Given the description of an element on the screen output the (x, y) to click on. 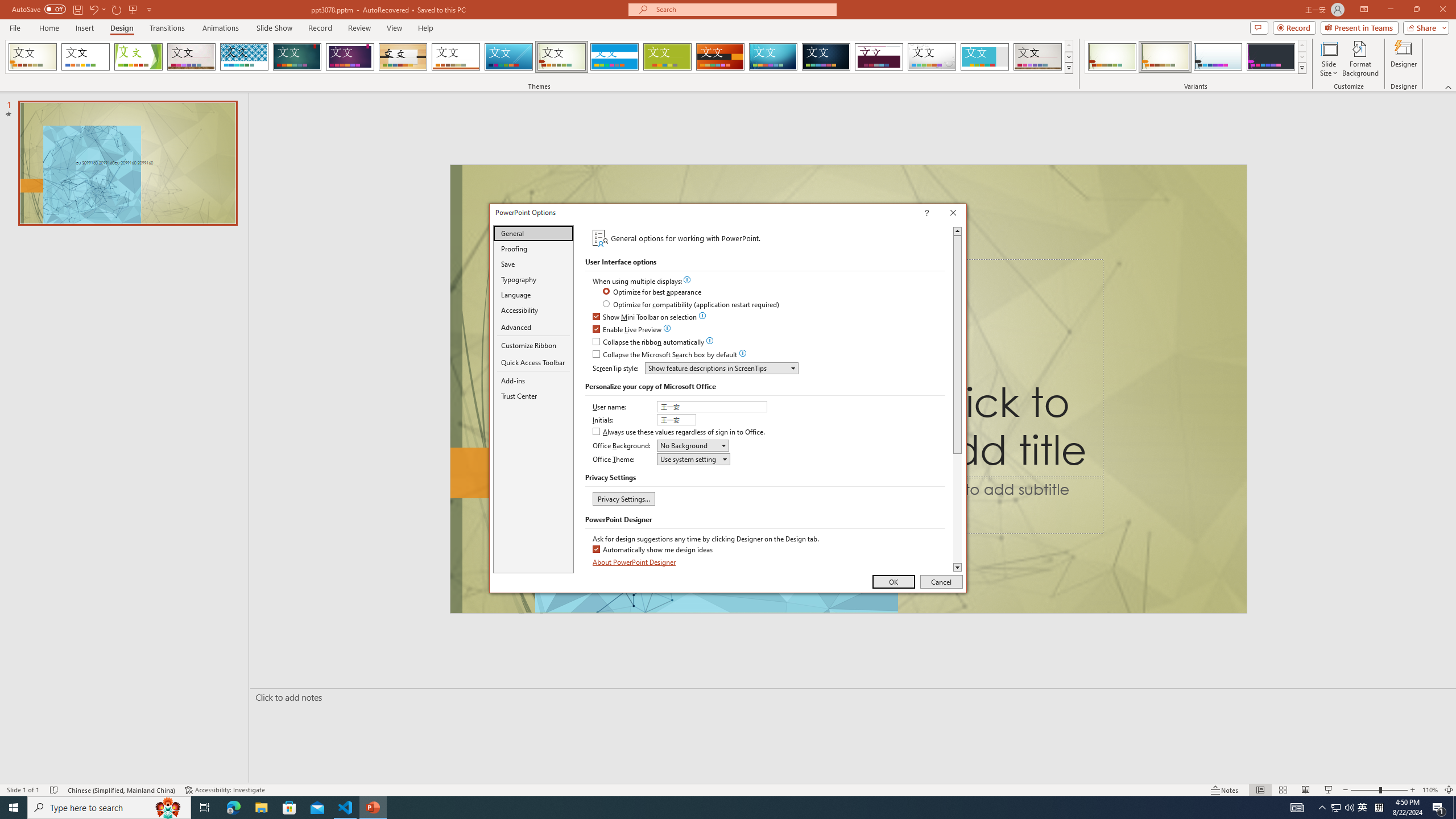
Advanced (533, 327)
OK (893, 581)
Format Background (1360, 58)
Ion Loading Preview... (296, 56)
Visual Studio Code - 1 running window (345, 807)
Tray Input Indicator - Chinese (Simplified, China) (1378, 807)
Variants (1301, 67)
Initials (676, 419)
